Given the description of an element on the screen output the (x, y) to click on. 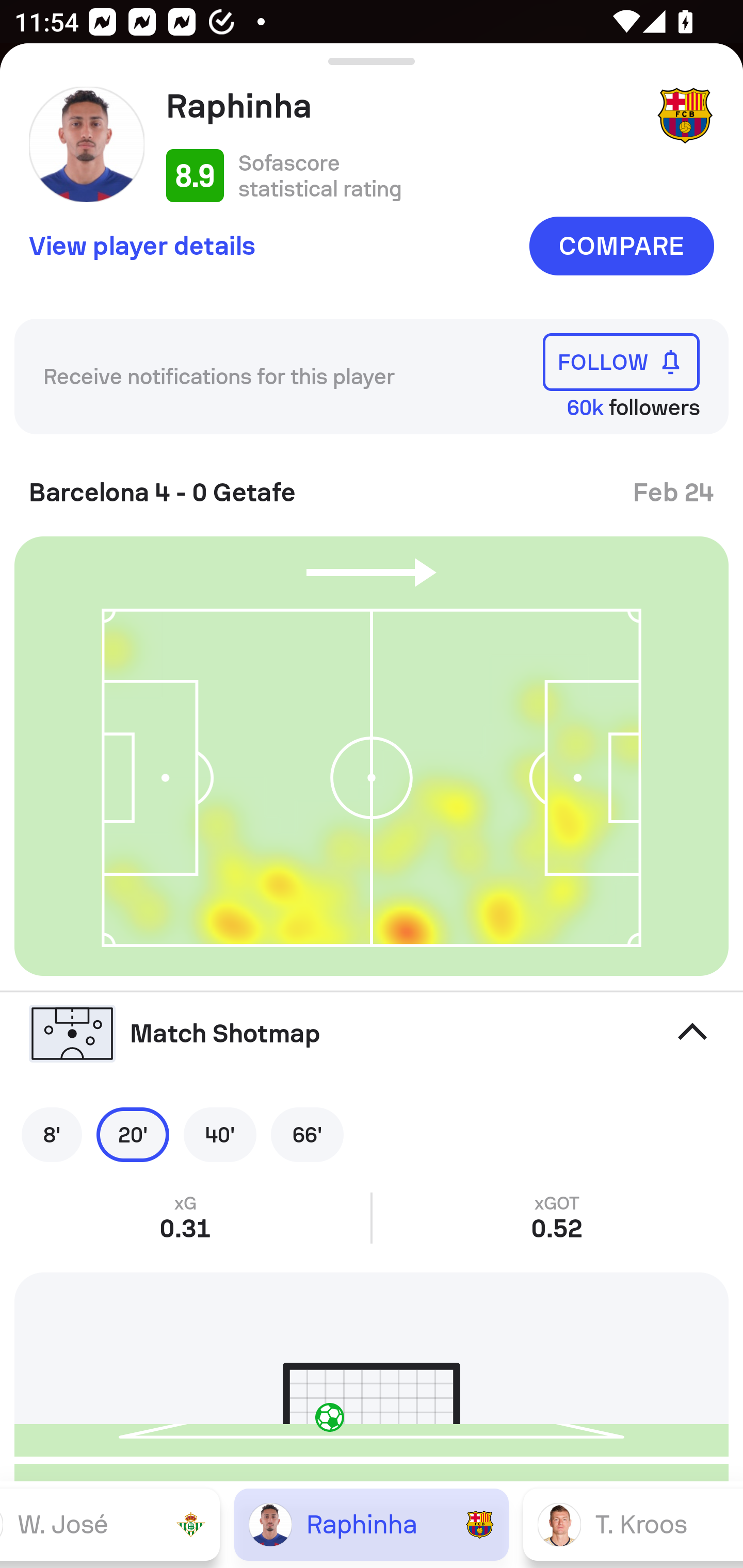
Raphinha (403, 105)
COMPARE (621, 245)
View player details (141, 245)
FOLLOW (621, 361)
Barcelona 4 - 0 Getafe Feb 24 (371, 485)
Match Shotmap (371, 1033)
8' (51, 1134)
20' (132, 1134)
40' (219, 1134)
66' (306, 1134)
W. José (109, 1524)
Raphinha (371, 1524)
T. Kroos (633, 1524)
